Given the description of an element on the screen output the (x, y) to click on. 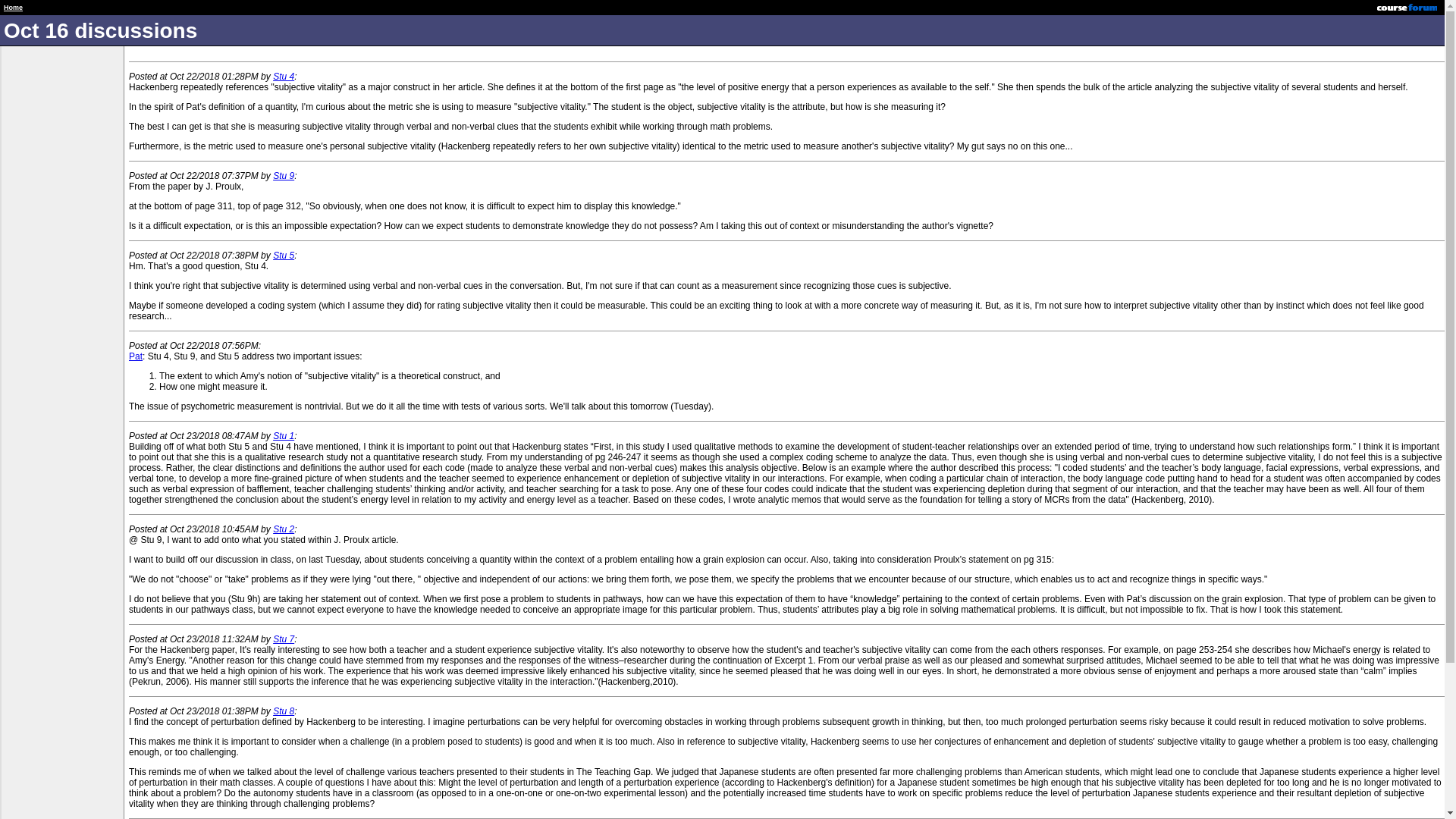
Stu 7 (283, 638)
Stu 5 (283, 255)
Pat (135, 356)
Stu 9 (283, 175)
Stu 1 (283, 435)
Home (13, 7)
Stu 2 (283, 529)
Stu 4 (283, 76)
Stu 8 (283, 710)
